Given the description of an element on the screen output the (x, y) to click on. 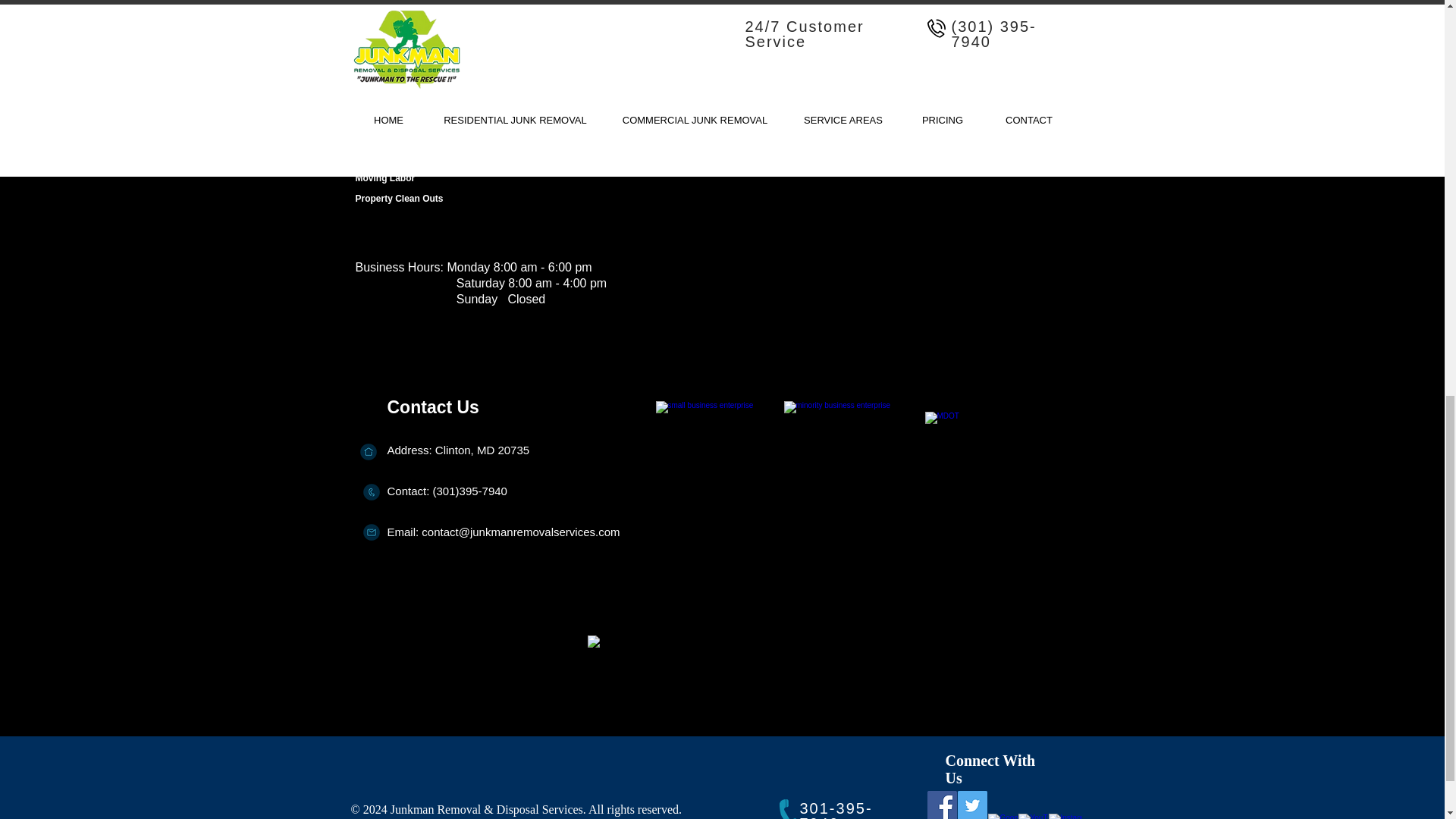
MDOT (1009, 462)
CERTIFIED SMALL BUSINESS (721, 462)
MINORITY BUSINESS ENTERPRISE (850, 462)
